Given the description of an element on the screen output the (x, y) to click on. 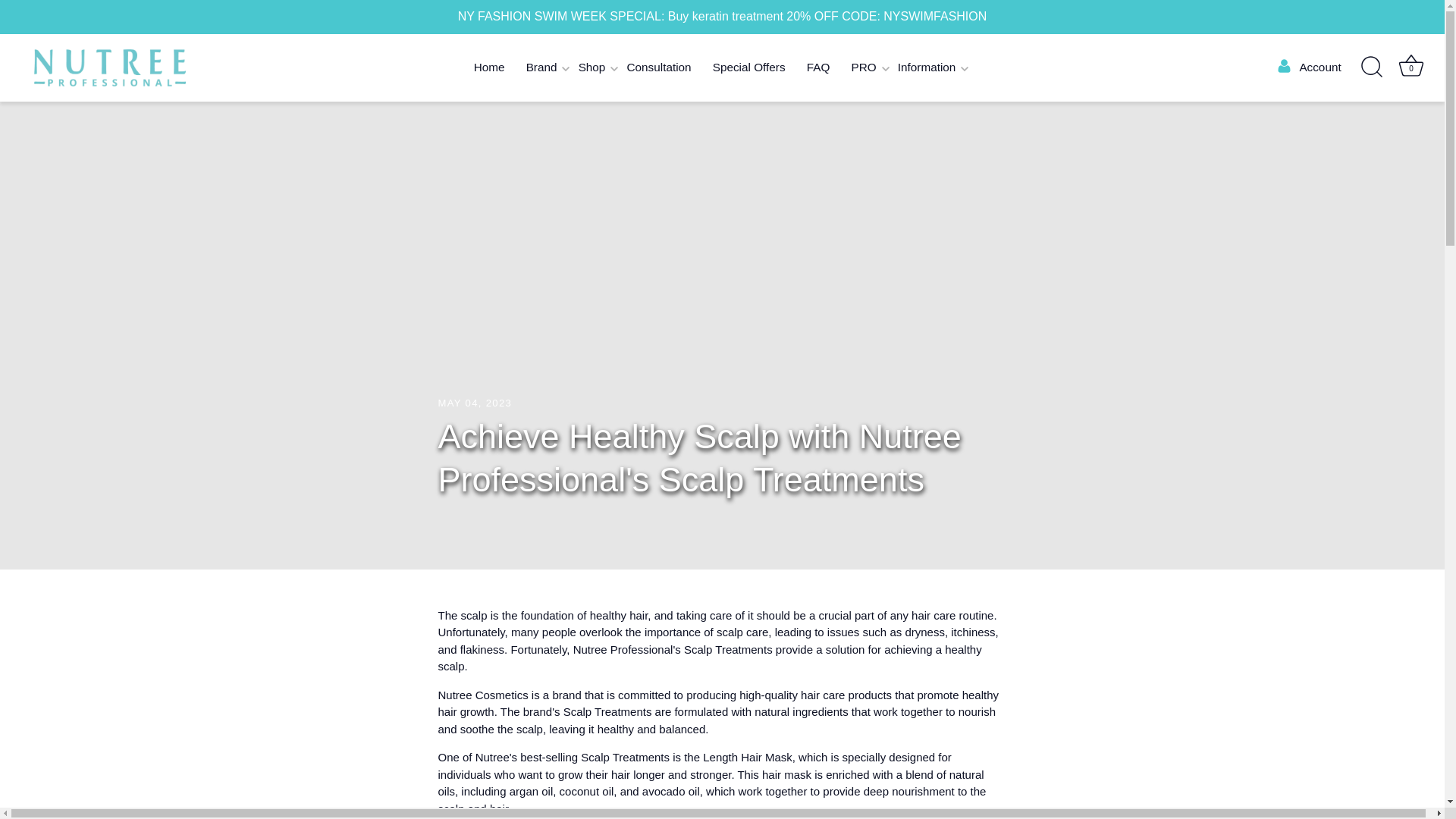
Home (488, 68)
Information (926, 68)
FAQ (818, 68)
Basket (1410, 65)
PRO (863, 68)
Shop (591, 68)
Special Offers (748, 68)
Brand (541, 68)
Consultation (658, 68)
